Given the description of an element on the screen output the (x, y) to click on. 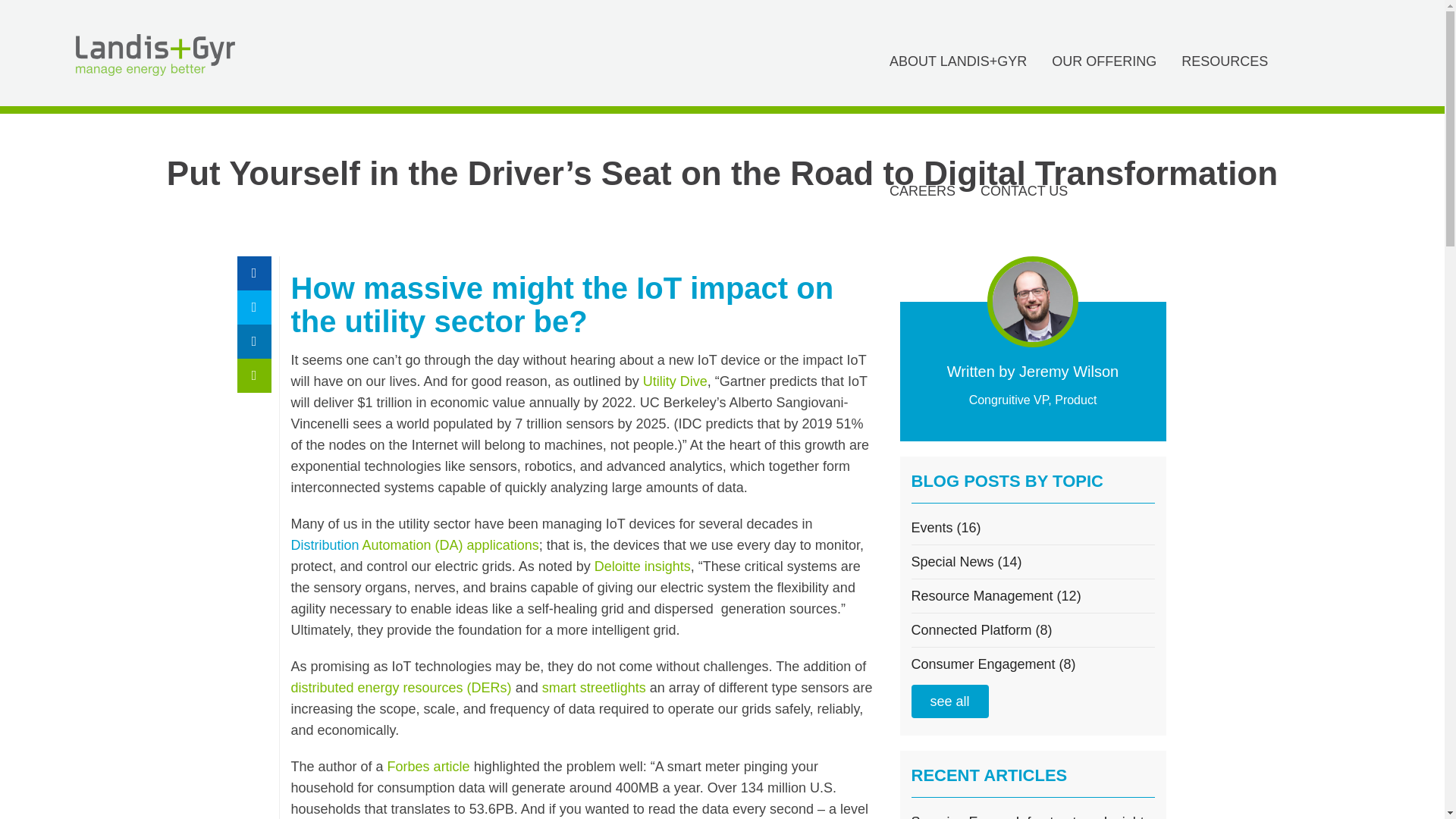
Utility Dive (675, 381)
Tweet (252, 307)
Our Offering (1104, 64)
Share on Email (252, 375)
Forbes article (428, 766)
smart streetlights (593, 687)
Share on LinkedIn (252, 341)
Jeremy Wilson (1068, 371)
OUR OFFERING (1104, 64)
Share on Facebook (252, 273)
Deloitte insights (642, 566)
